Given the description of an element on the screen output the (x, y) to click on. 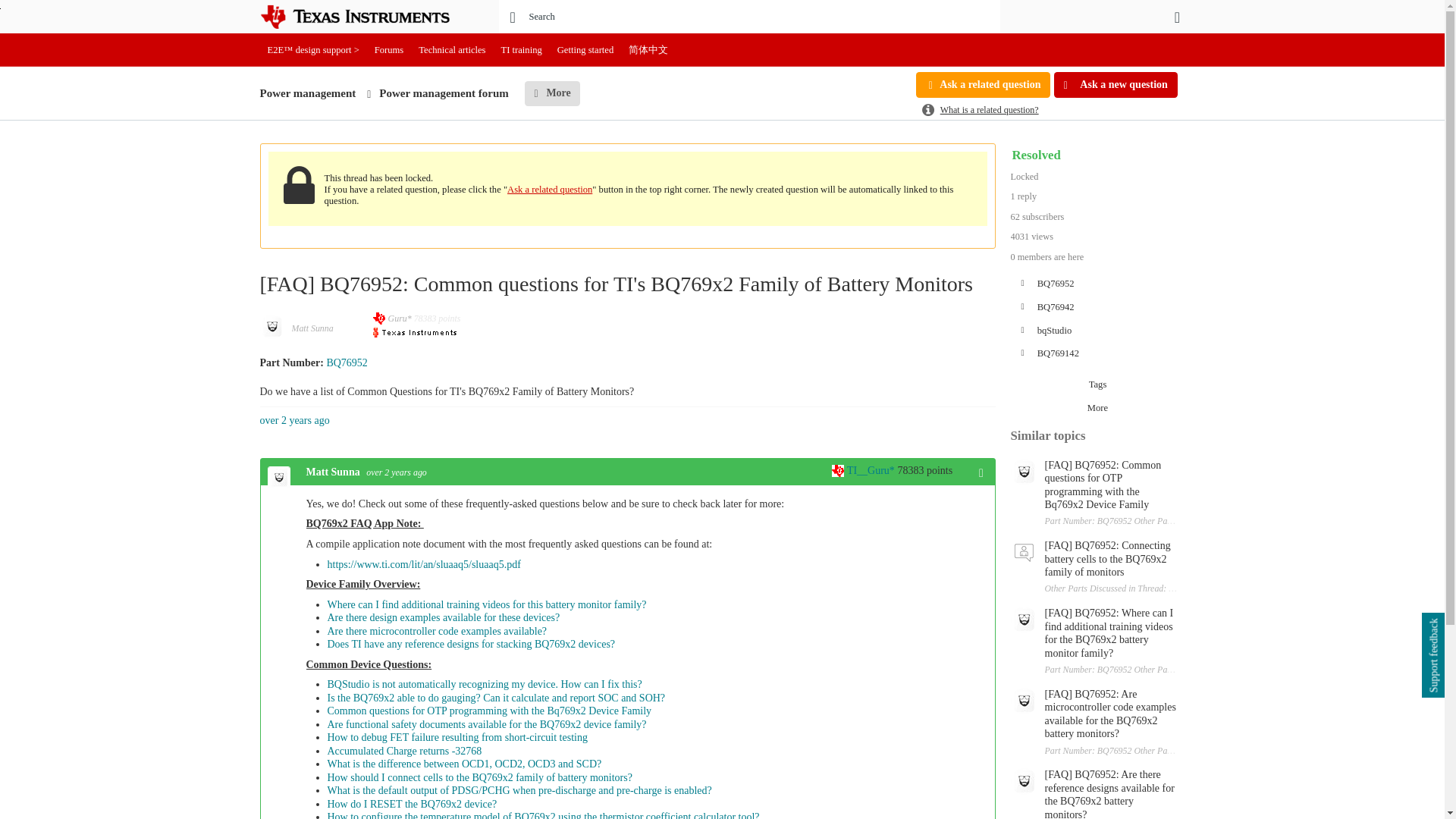
Link to Product Folder (346, 362)
User (1177, 17)
TI training (521, 49)
Click here for explanation of levels (864, 470)
Forums (389, 49)
Getting started (585, 49)
Join or sign in (1177, 17)
Click here for explanation of levels (392, 317)
Technical articles (451, 49)
Home (365, 16)
